Given the description of an element on the screen output the (x, y) to click on. 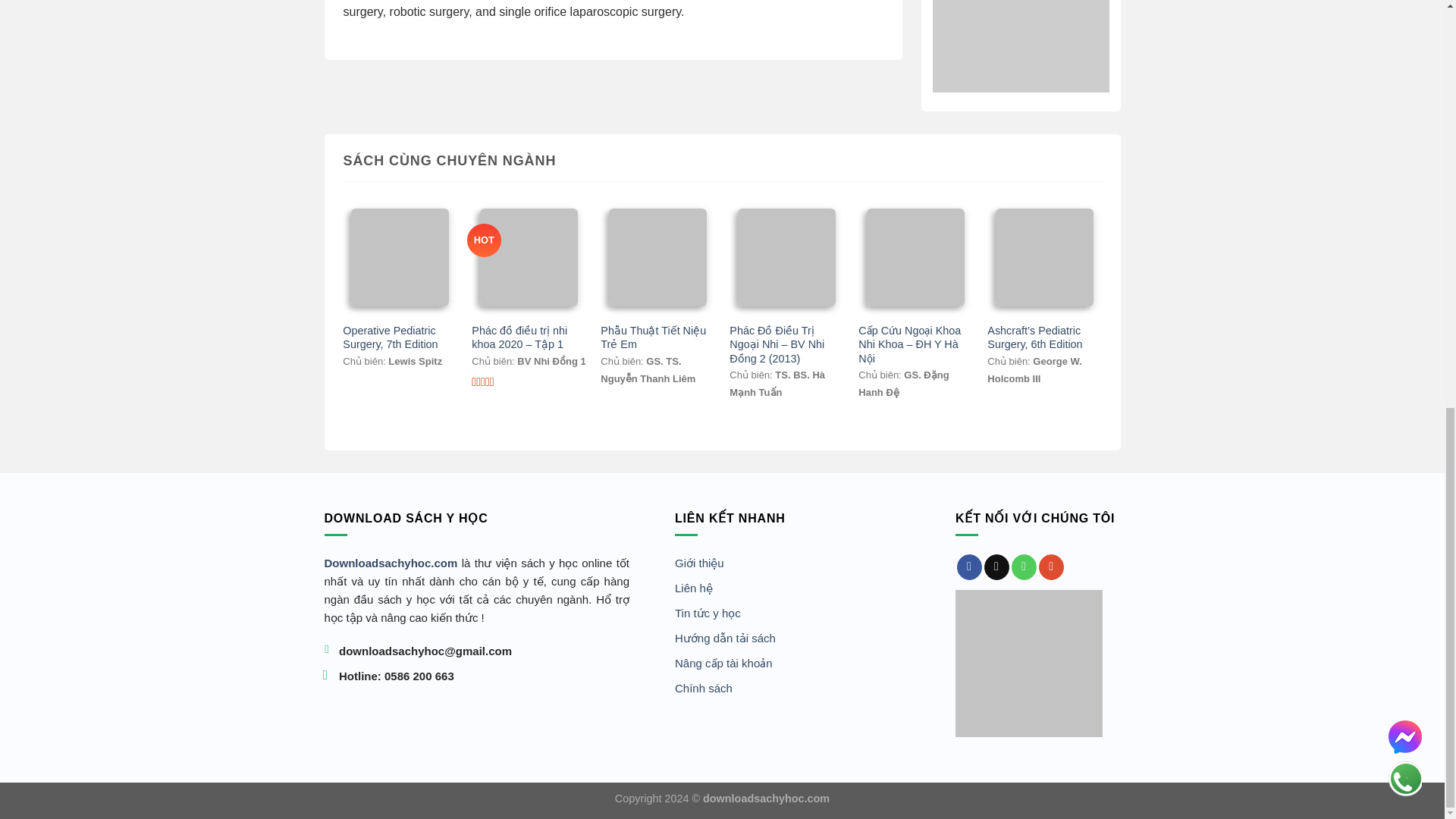
Operative Pediatric Surgery, 7th Edition (399, 337)
